Given the description of an element on the screen output the (x, y) to click on. 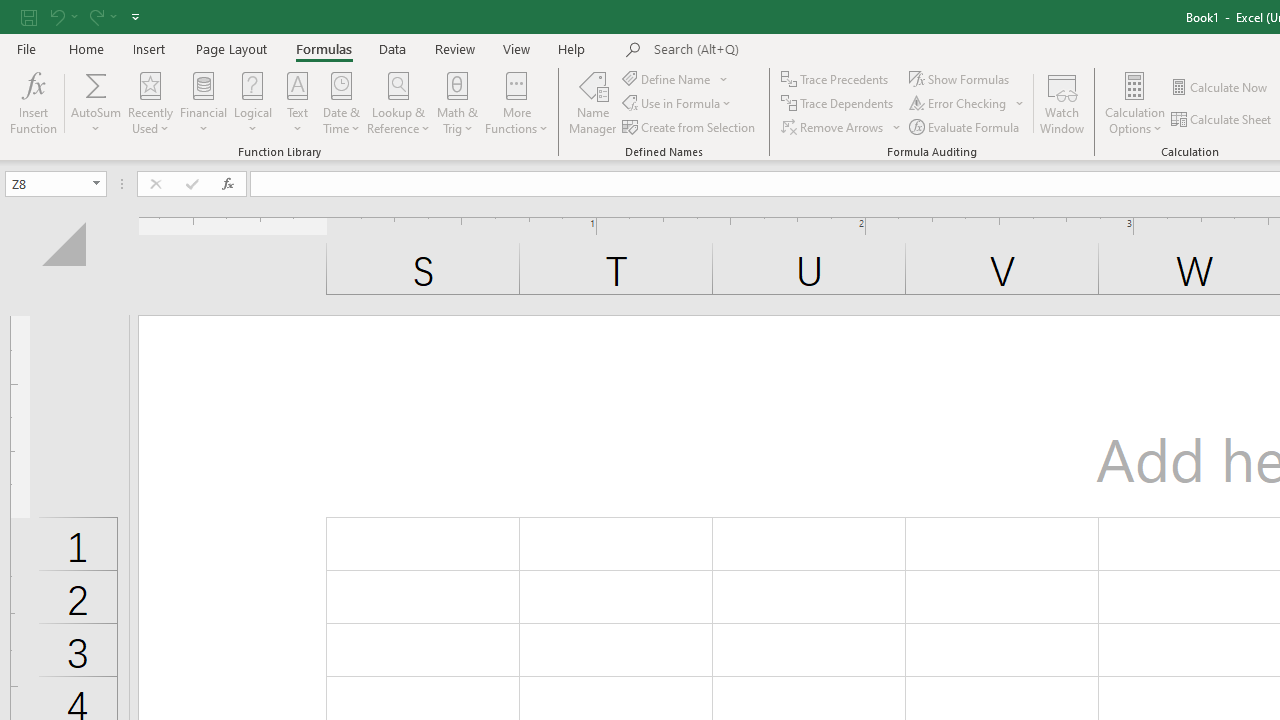
Logical (253, 102)
Error Checking... (959, 103)
Sum (96, 84)
Error Checking... (967, 103)
Use in Formula (678, 103)
